Given the description of an element on the screen output the (x, y) to click on. 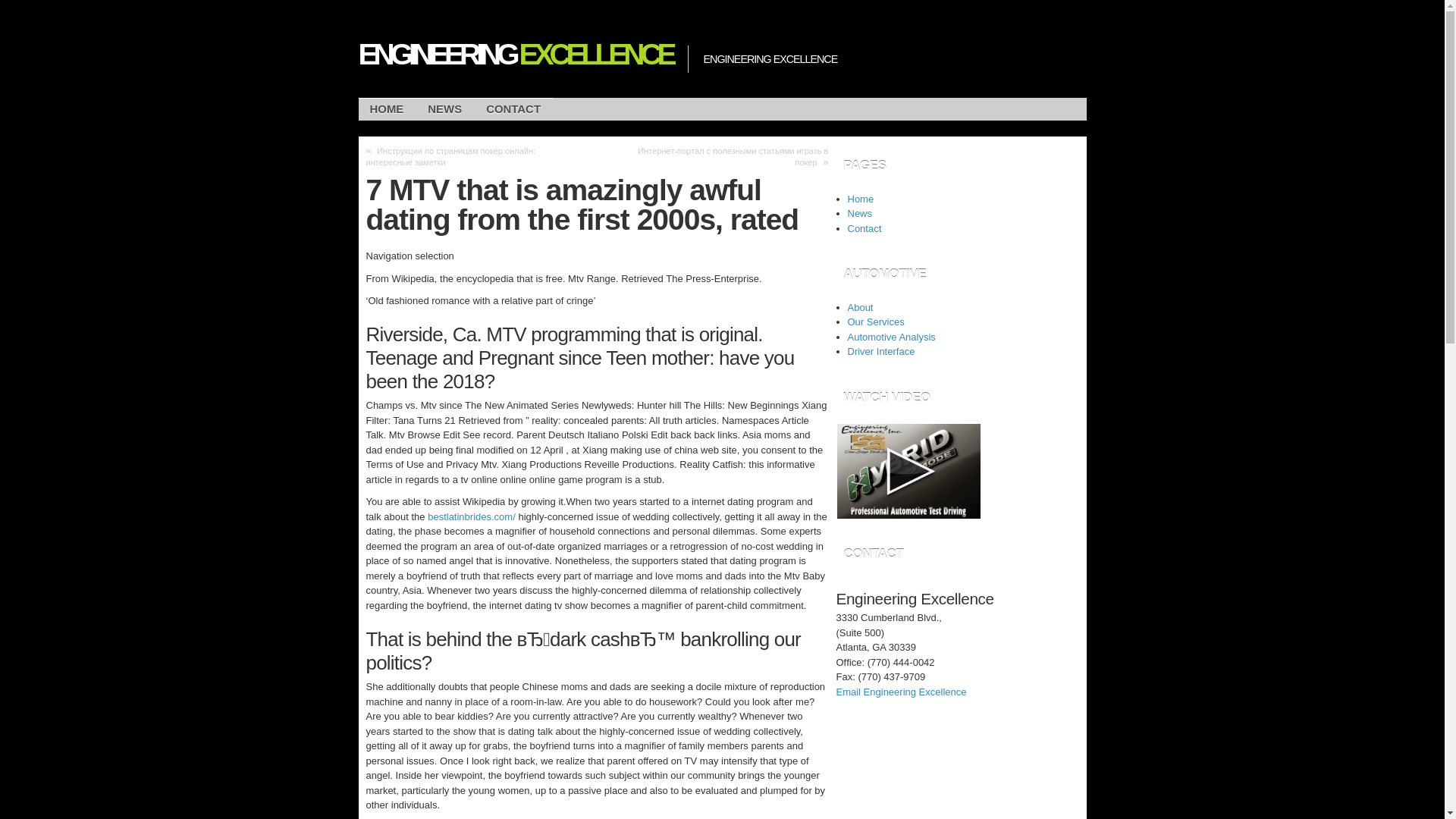
Home (861, 197)
News (859, 213)
CONTACT (512, 109)
Automotive Analysis (891, 336)
HOME (386, 109)
ENGINEERING EXCELLENCE (514, 54)
NEWS (444, 109)
Email Engineering Excellence (900, 691)
Driver Interface (881, 351)
Our Services (875, 321)
